Given the description of an element on the screen output the (x, y) to click on. 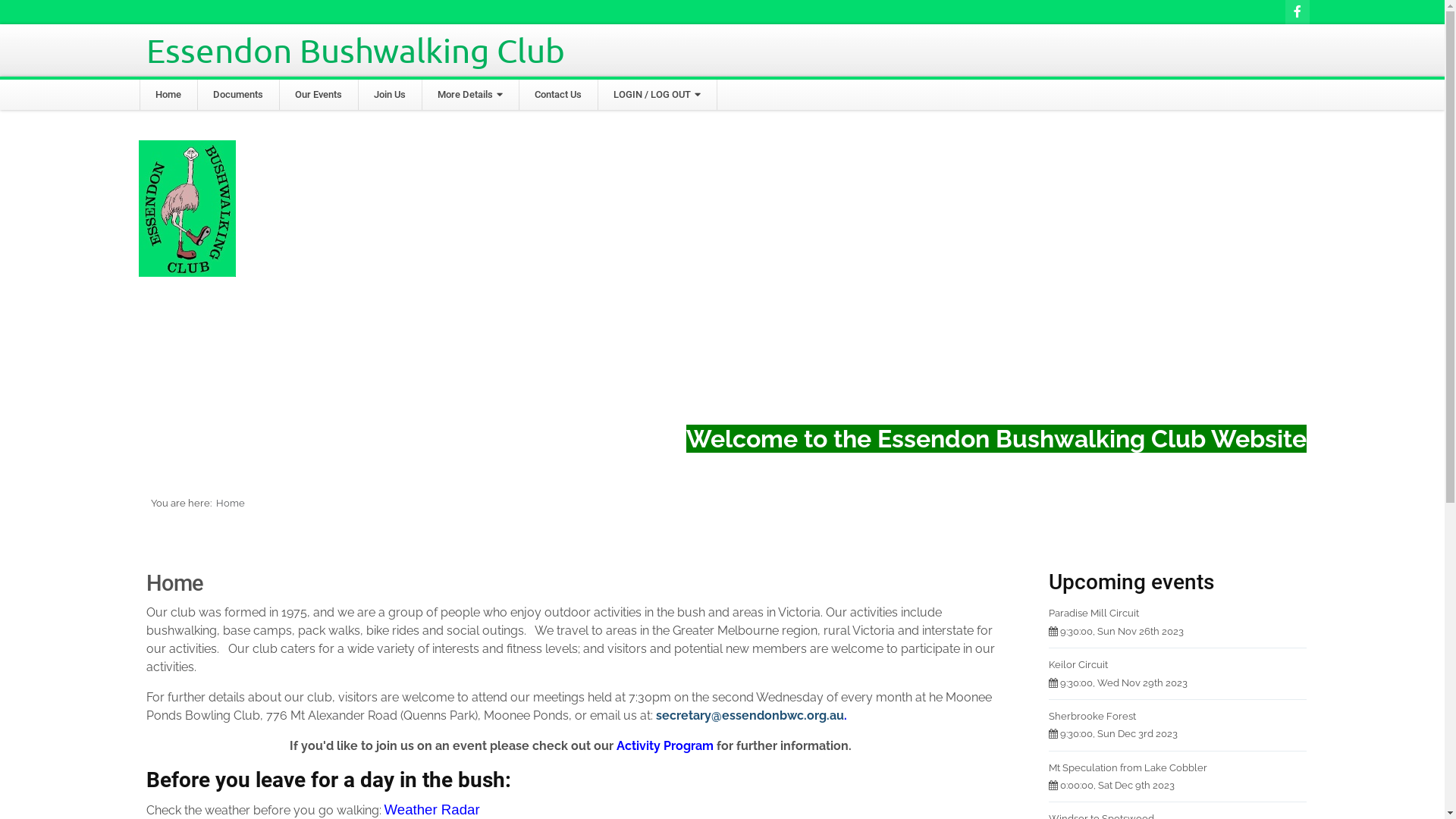
LOGIN / LOG OUT Element type: text (656, 94)
Join Us Element type: text (388, 94)
Activity Program Element type: text (664, 745)
Essendon Bushwalking Club Element type: text (354, 49)
Weather Radar Element type: text (431, 809)
secretary@essendonbwc.org.au Element type: text (749, 715)
Contact Us Element type: text (557, 94)
More Details Element type: text (469, 94)
Documents Element type: text (237, 94)
Our Events Element type: text (317, 94)
Home Element type: text (167, 94)
Facebook Element type: text (1296, 12)
